Given the description of an element on the screen output the (x, y) to click on. 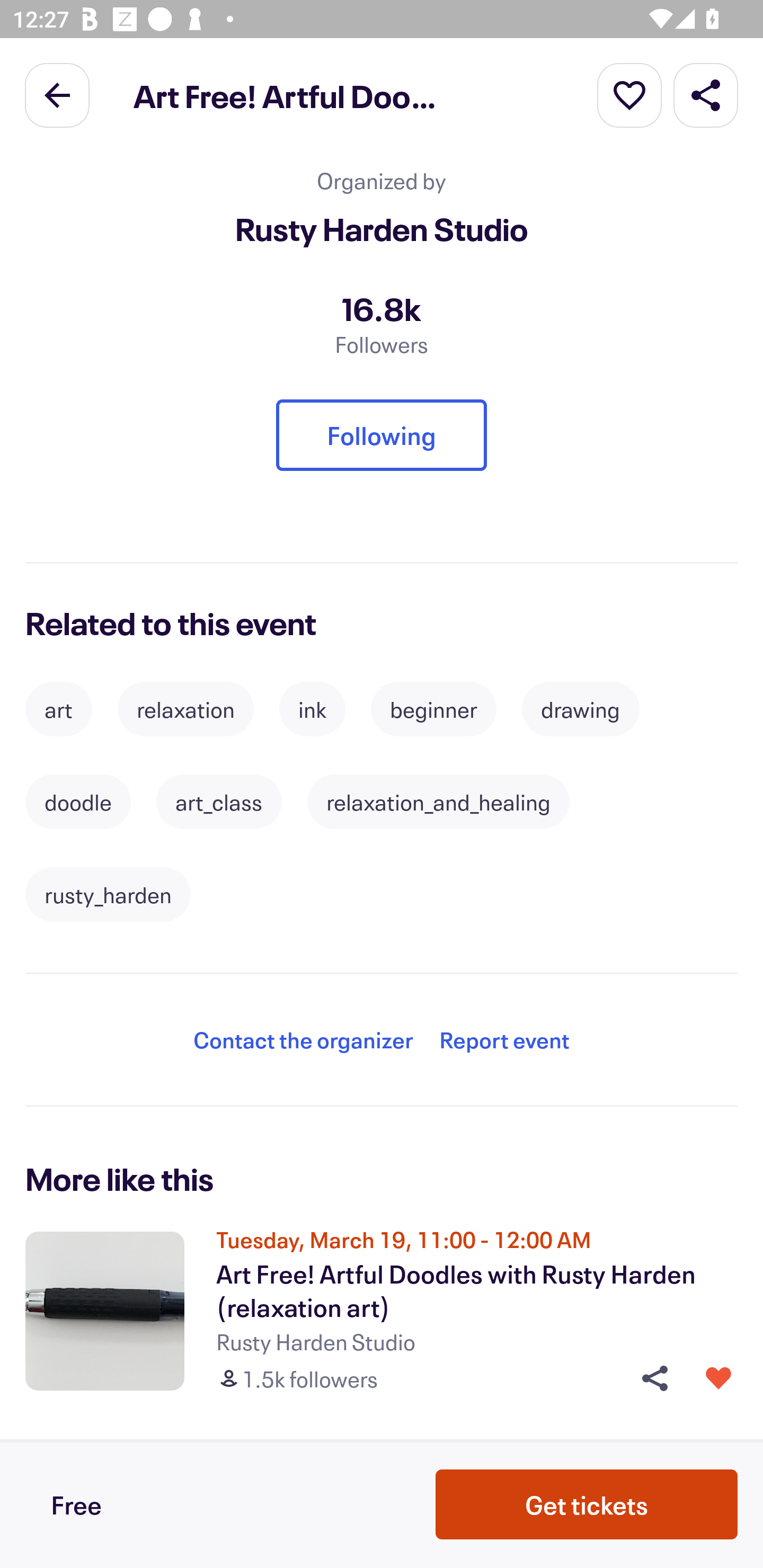
Back (57, 94)
More (629, 94)
Share (705, 94)
Rusty Harden Studio (381, 228)
Following (381, 434)
art (58, 709)
relaxation (185, 709)
ink (312, 709)
beginner (433, 709)
drawing (580, 709)
doodle (78, 801)
art_class (218, 801)
relaxation_and_healing (438, 801)
rusty_harden (107, 894)
Contact the organizer (303, 1039)
Report event (504, 1039)
Share (648, 1377)
Like (718, 1377)
Get tickets (586, 1504)
